Given the description of an element on the screen output the (x, y) to click on. 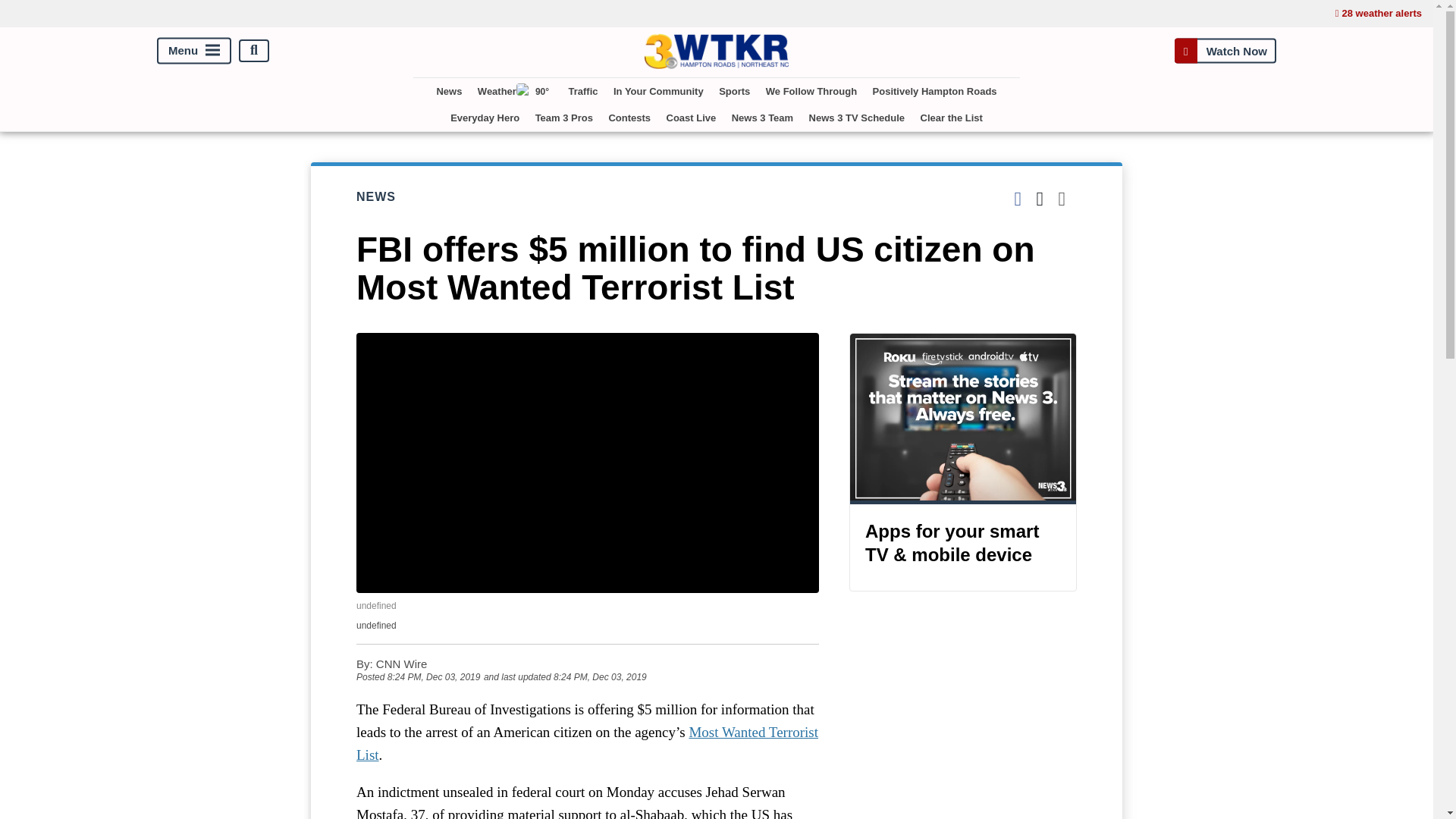
Menu (194, 49)
Watch Now (1224, 50)
